Given the description of an element on the screen output the (x, y) to click on. 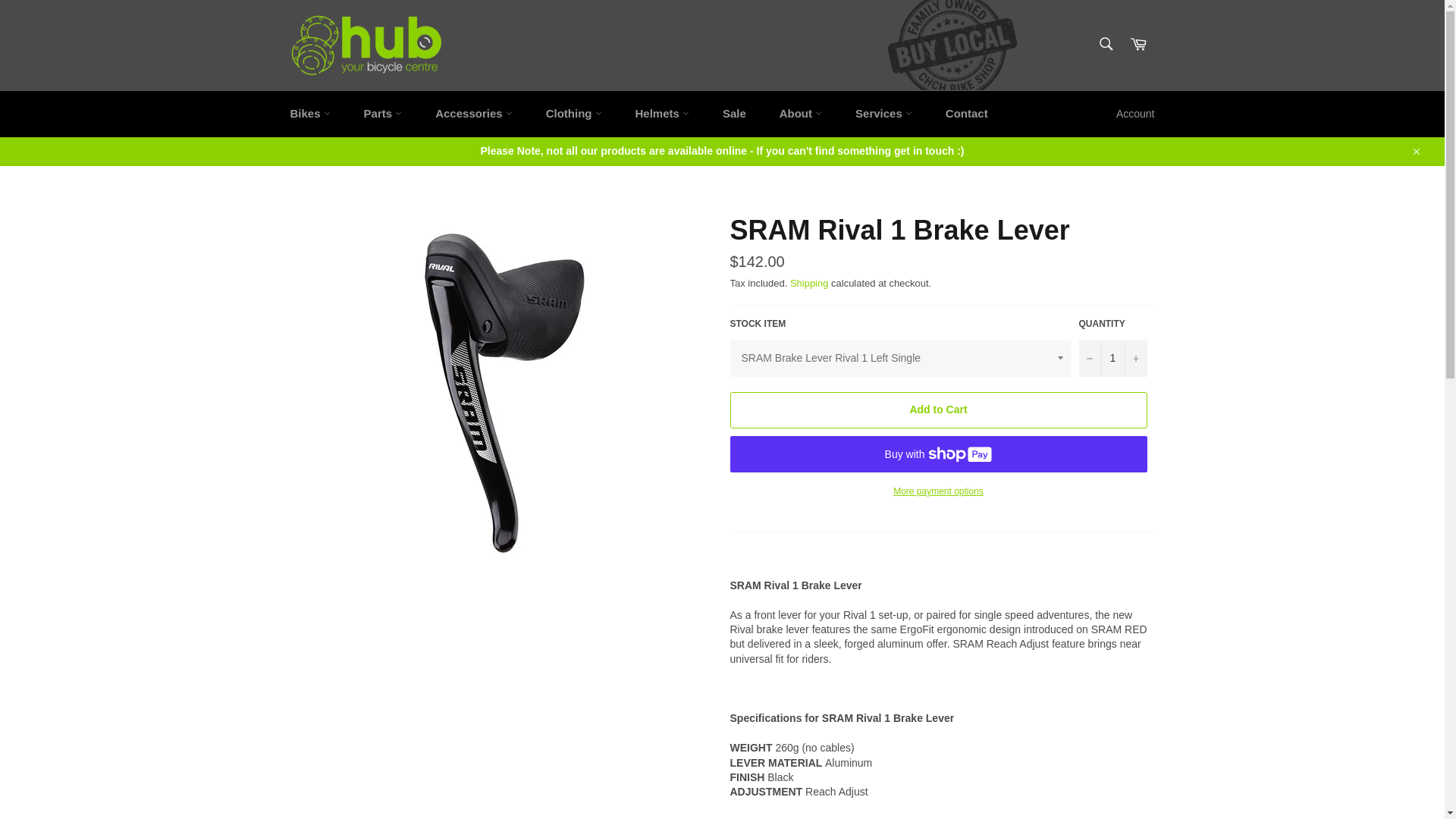
1 (1112, 358)
